Given the description of an element on the screen output the (x, y) to click on. 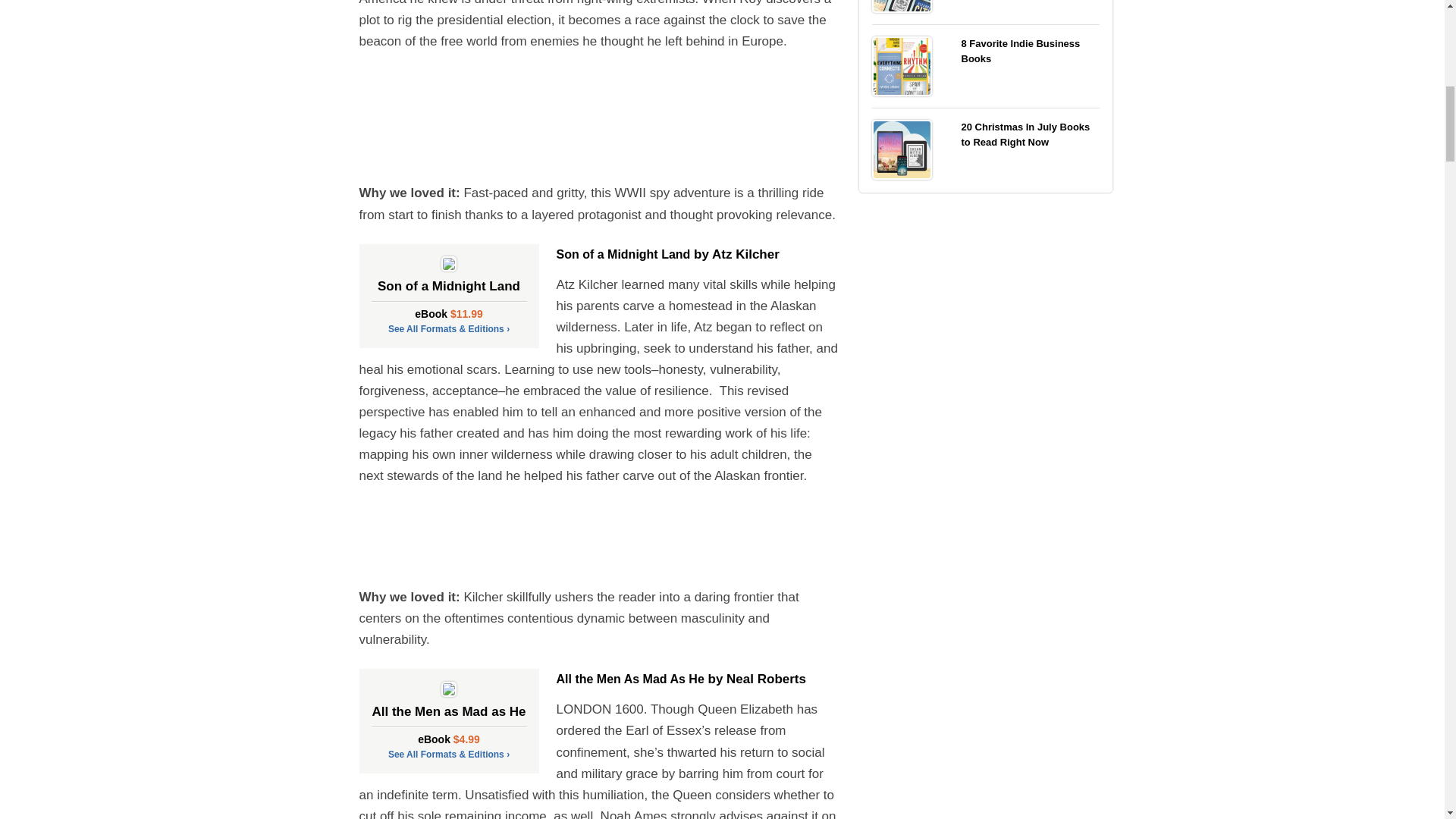
Son of a Midnight Land (449, 290)
8 Favorite Indie Business Books (901, 65)
20 Christmas In July Books to Read Right Now (901, 148)
All the Men as Mad as He (449, 715)
Son of a Midnight Land (623, 254)
All the Men As Mad As He (630, 678)
